Given the description of an element on the screen output the (x, y) to click on. 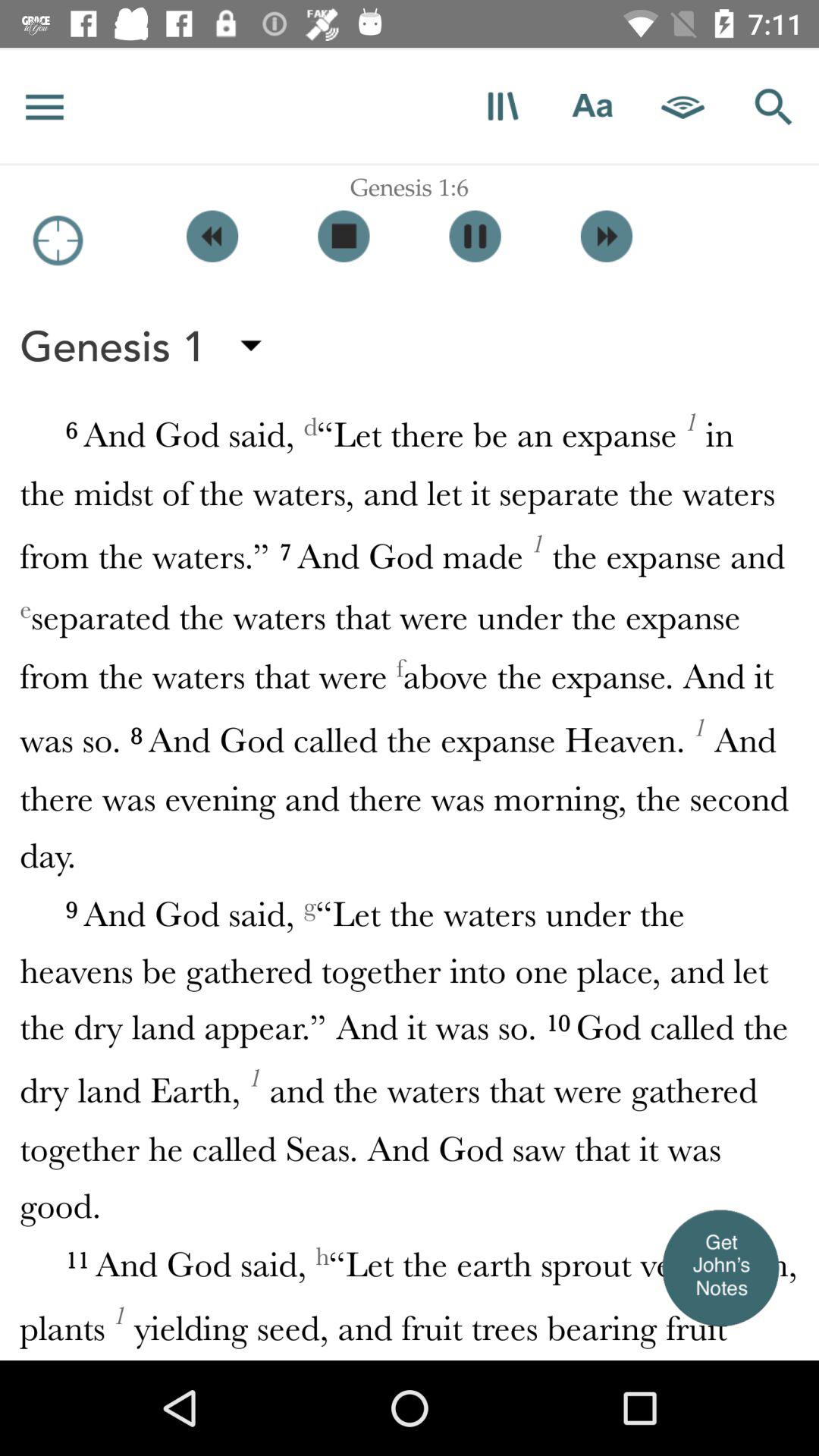
stop toggle (343, 236)
